Given the description of an element on the screen output the (x, y) to click on. 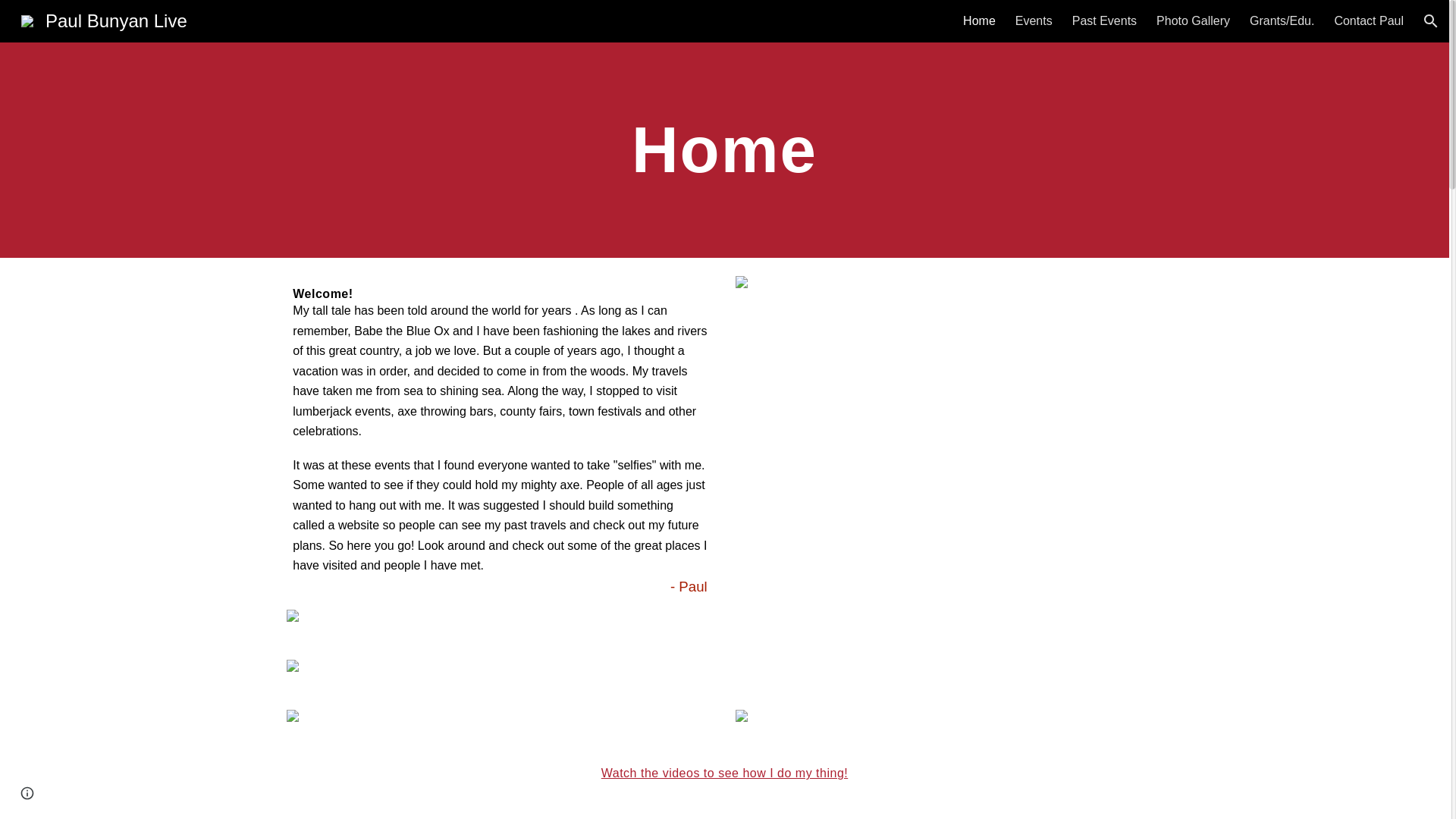
Home (978, 20)
Past Events (1104, 20)
Photo Gallery (1193, 20)
Contact Paul (1368, 20)
Paul Bunyan Live (103, 19)
Events (1033, 20)
